Given the description of an element on the screen output the (x, y) to click on. 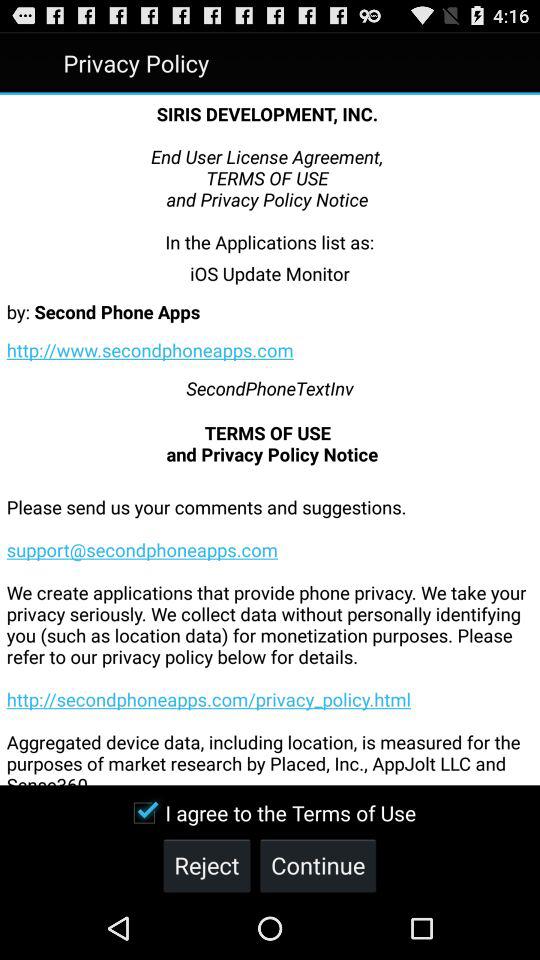
turn off item below terms of use item (270, 625)
